Given the description of an element on the screen output the (x, y) to click on. 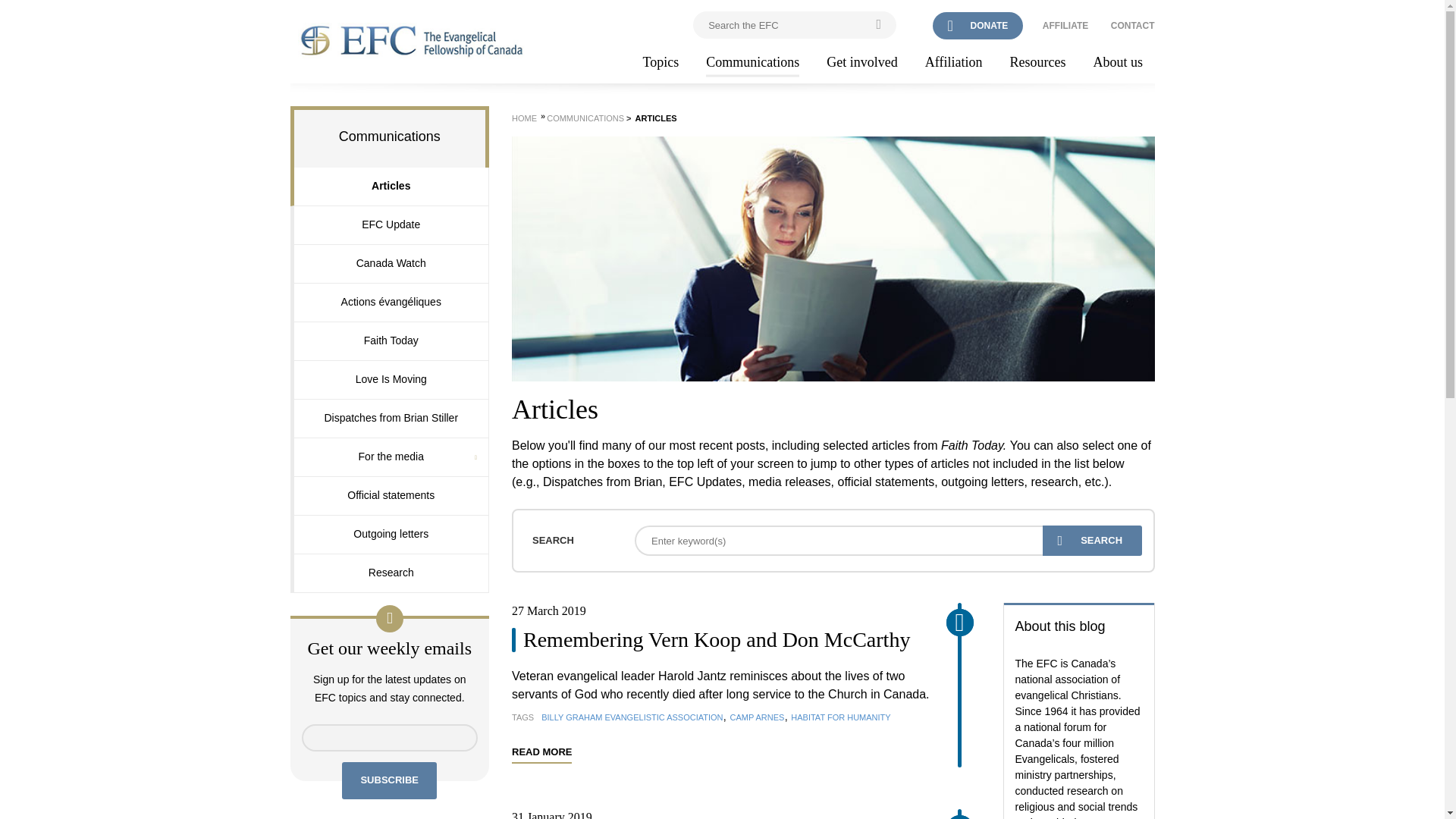
Search (1091, 540)
Topics (660, 62)
Subscribe (389, 780)
